Given the description of an element on the screen output the (x, y) to click on. 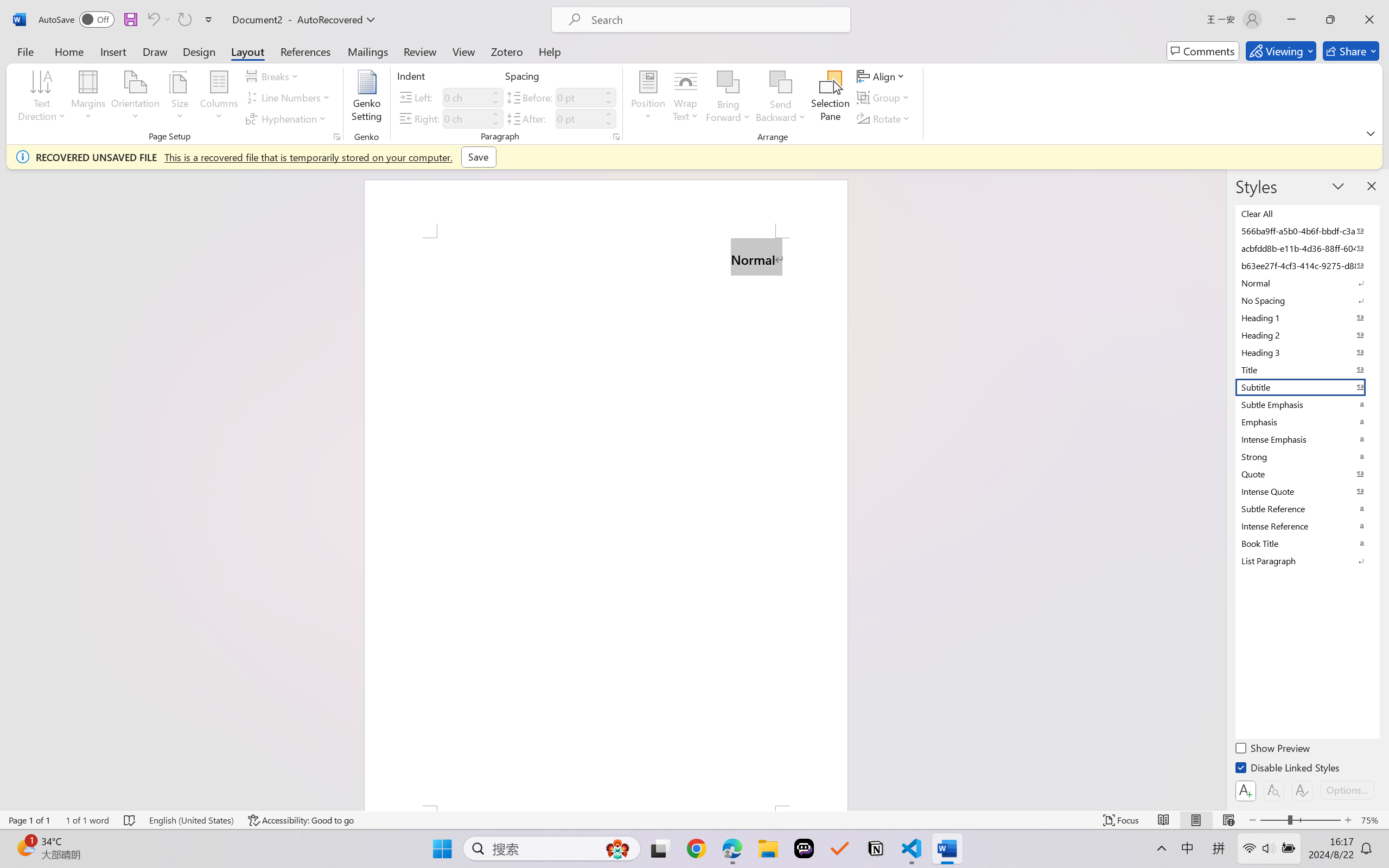
Can't Undo (158, 19)
Quote (1306, 473)
Wrap Text (685, 97)
Page 1 content (605, 521)
Align (881, 75)
Emphasis (1306, 421)
Normal (1306, 282)
Ribbon Display Options (1370, 132)
